Given the description of an element on the screen output the (x, y) to click on. 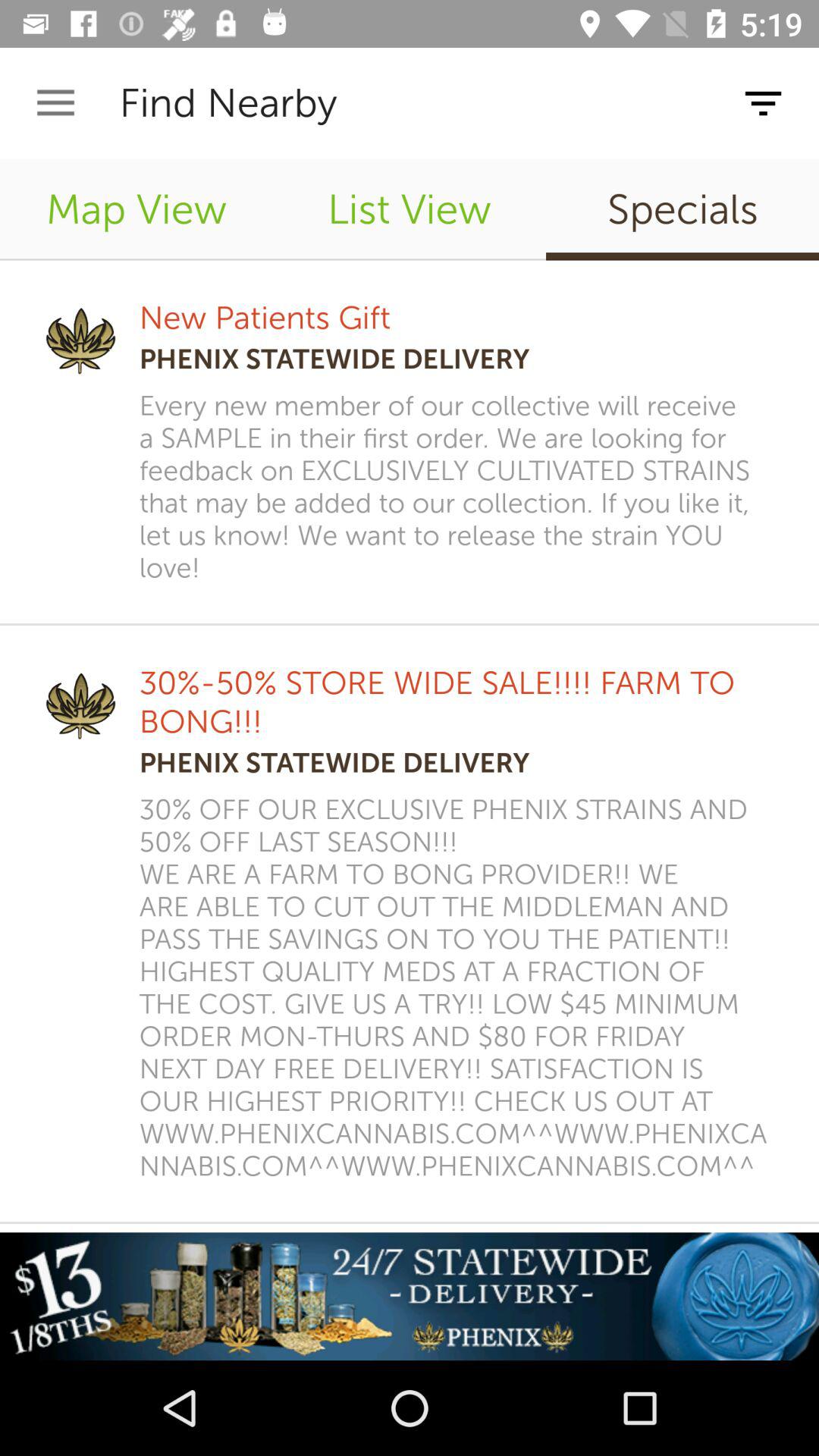
press the icon next to list view (682, 209)
